Given the description of an element on the screen output the (x, y) to click on. 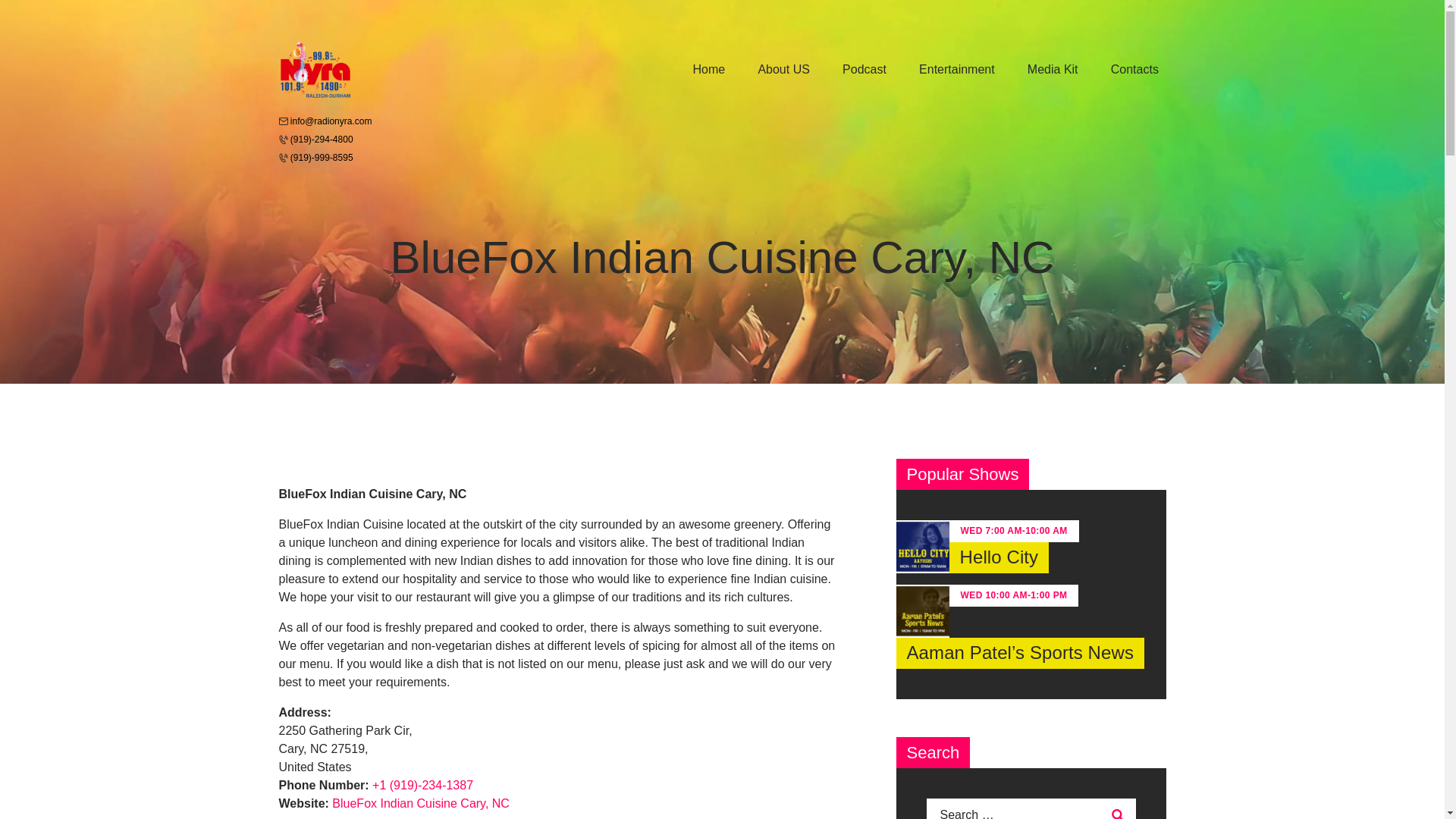
Like (262, 447)
Home (708, 69)
0 (262, 447)
Search (1120, 808)
Contacts (1134, 69)
Podcast (863, 69)
Search (1120, 808)
BlueFox Indian Cuisine Cary, NC (420, 802)
Hello City (999, 557)
Entertainment (956, 69)
About US (783, 69)
Media Kit (1052, 69)
